Given the description of an element on the screen output the (x, y) to click on. 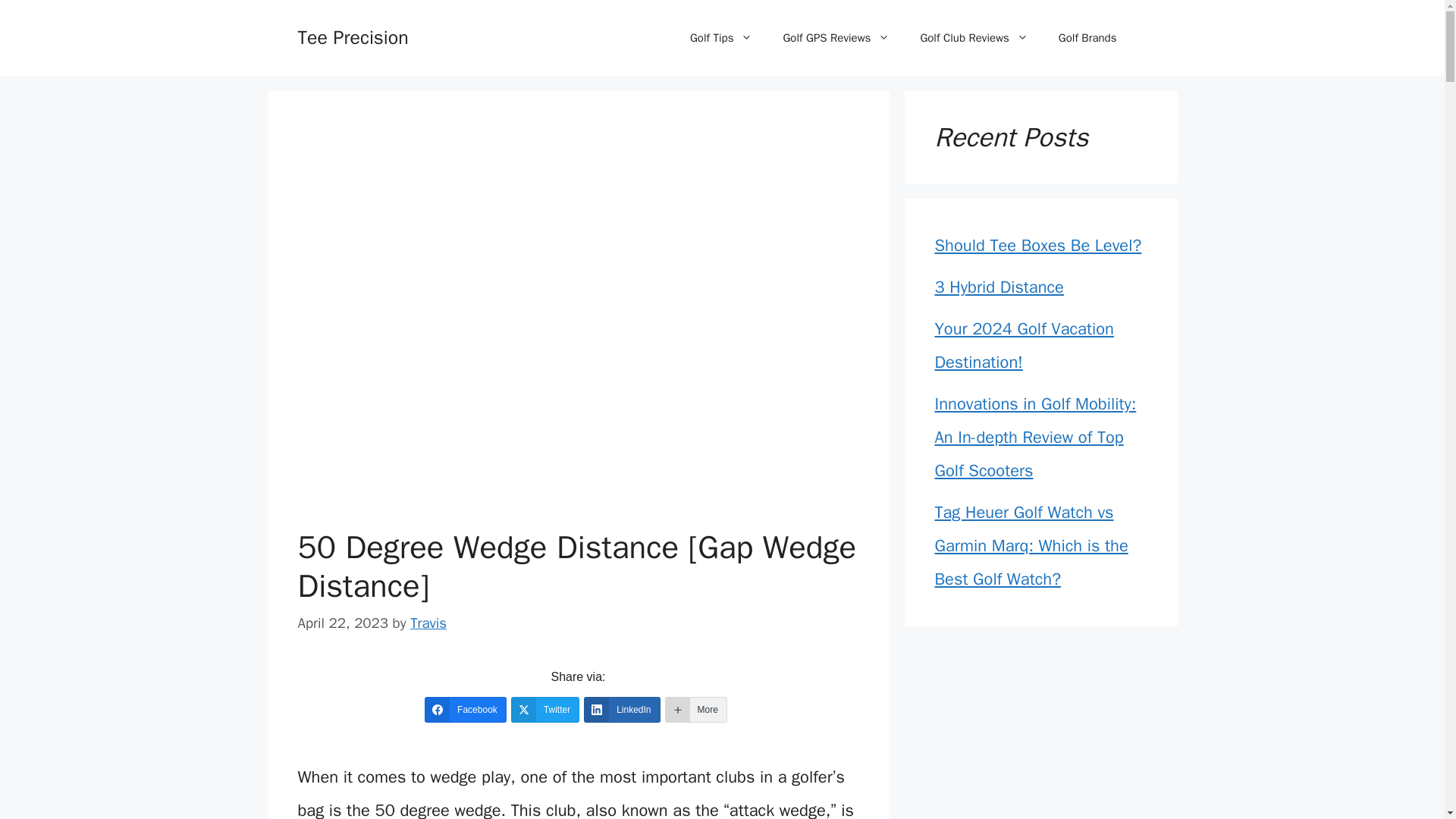
Travis (428, 623)
Golf Club Reviews (973, 37)
Golf Brands (1087, 37)
More (695, 709)
Golf Tips (721, 37)
Tee Precision (352, 37)
View all posts by Travis (428, 623)
Golf GPS Reviews (835, 37)
LinkedIn (621, 709)
Facebook (465, 709)
